Given the description of an element on the screen output the (x, y) to click on. 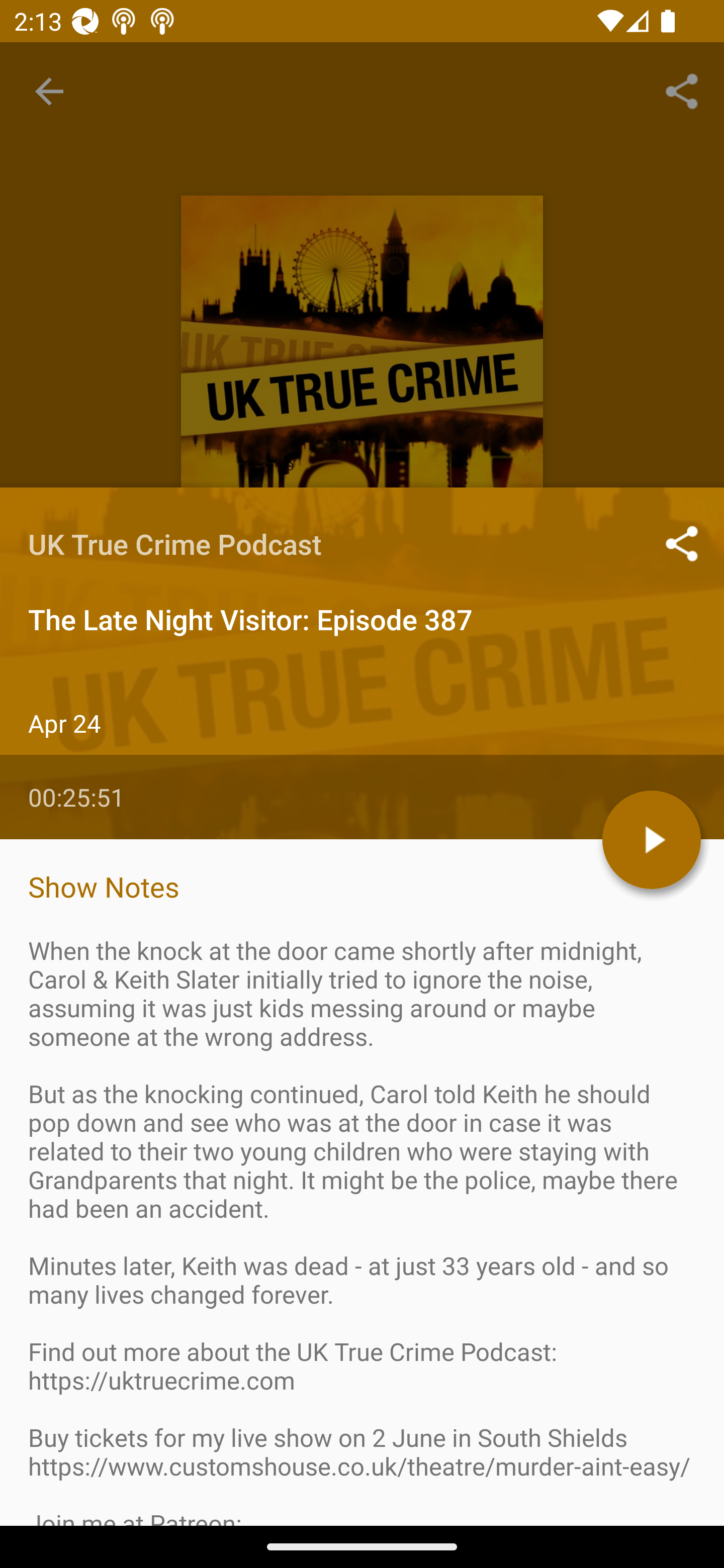
Apr 24 The Late Night Visitor: Episode 387 (362, 867)
Apr 16 The Neighbour: Episode 386 (362, 985)
Mar 26 The Crime Writer: Episode 383 (362, 1340)
Mar 19 The Predator: Episode 382 (part 2/2) (362, 1458)
